Given the description of an element on the screen output the (x, y) to click on. 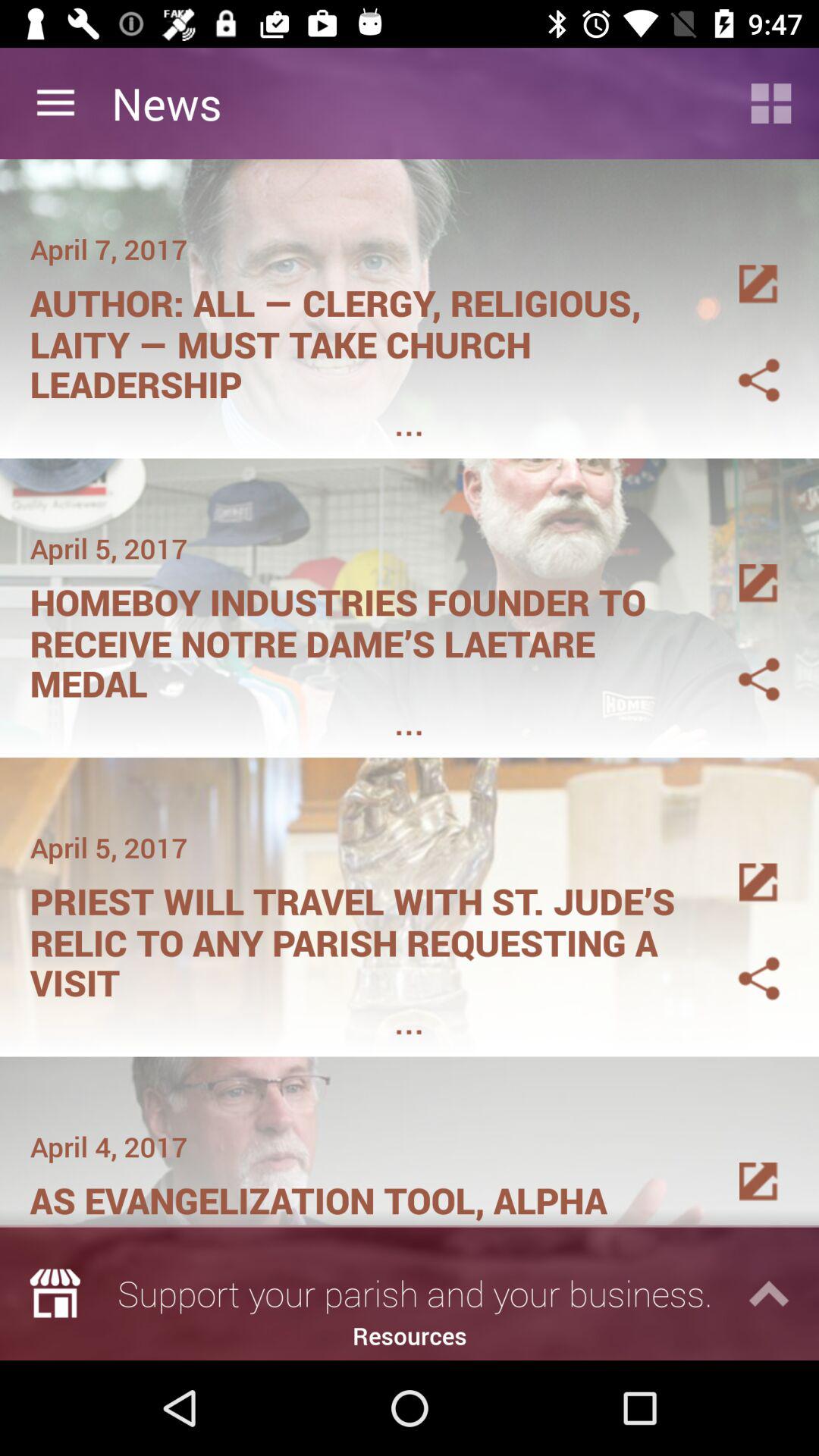
save the gallary (740, 565)
